Given the description of an element on the screen output the (x, y) to click on. 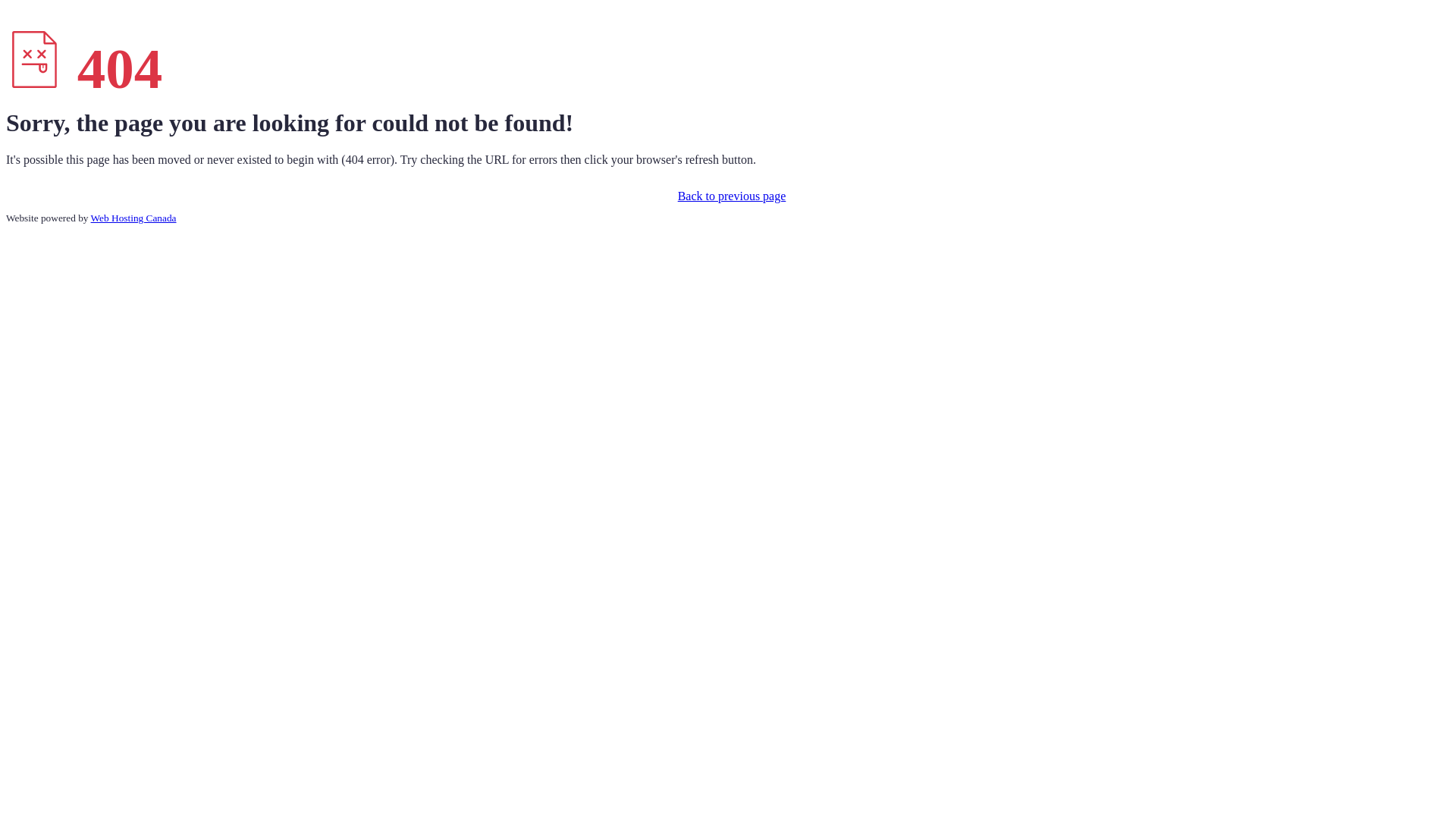
Web Hosting Canada Element type: text (133, 217)
Back to previous page Element type: text (728, 196)
